Given the description of an element on the screen output the (x, y) to click on. 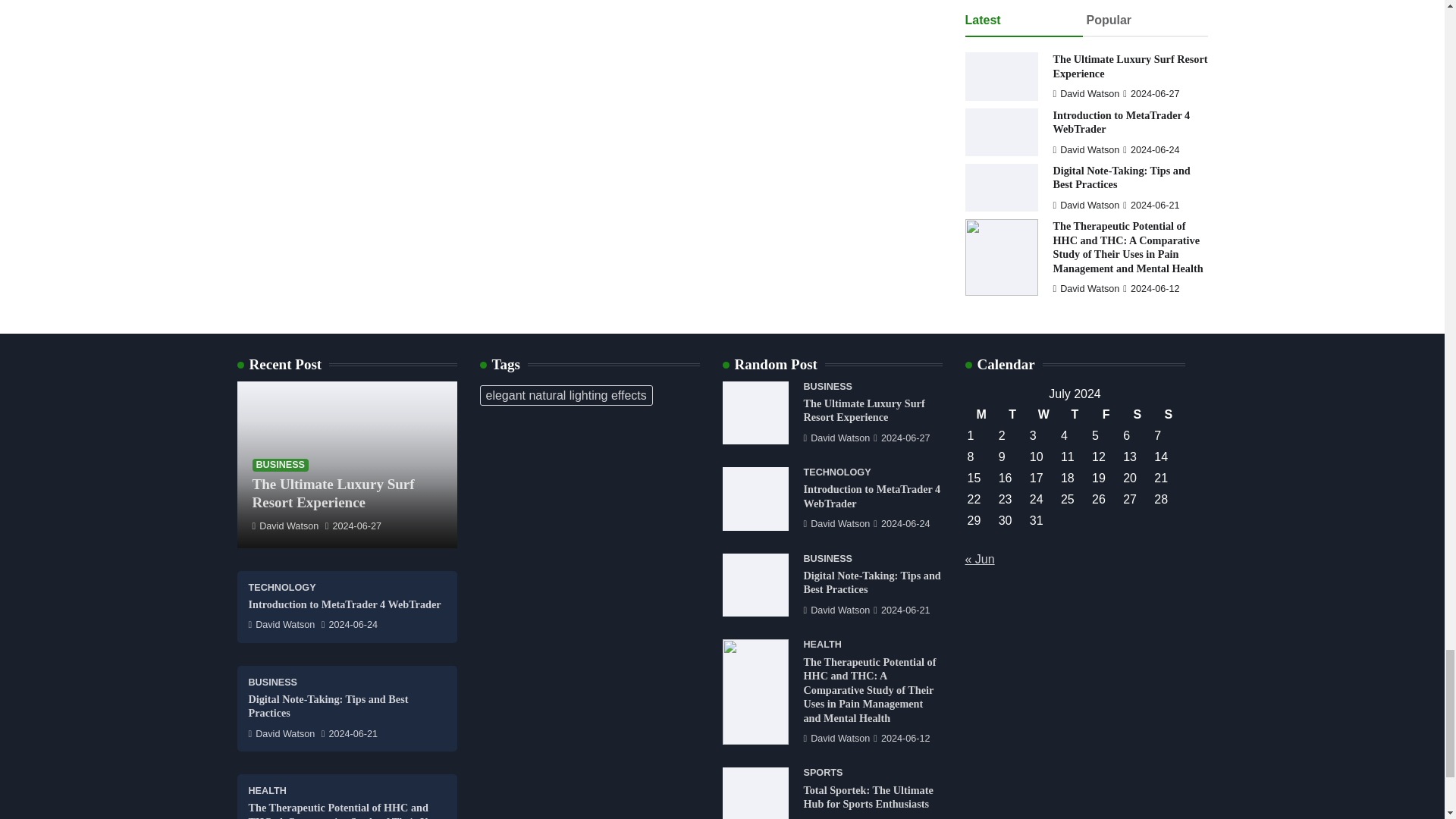
Wednesday (1043, 414)
Thursday (1074, 414)
Friday (1105, 414)
Sunday (1167, 414)
Saturday (1136, 414)
Tuesday (1012, 414)
Monday (980, 414)
